Given the description of an element on the screen output the (x, y) to click on. 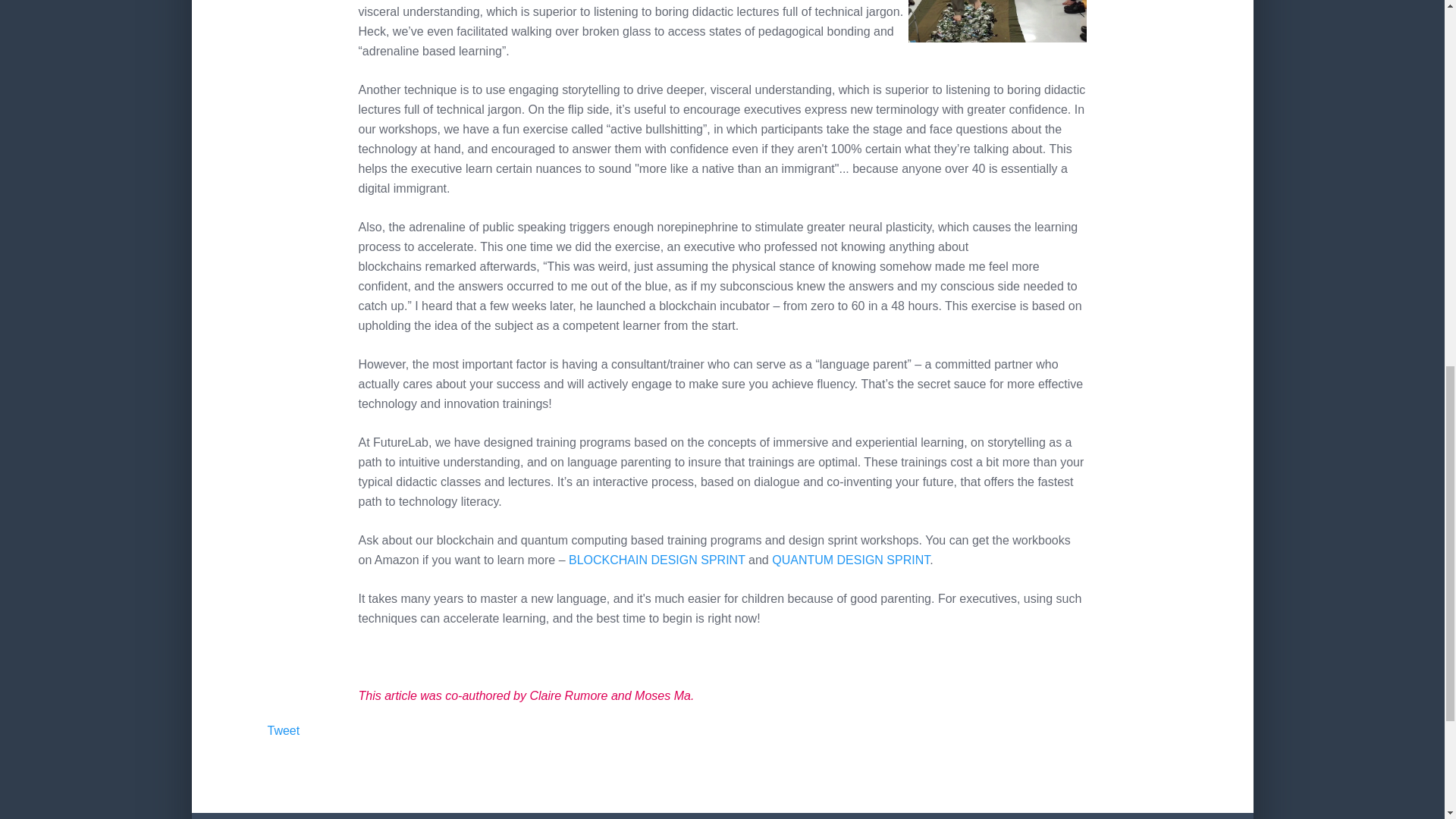
QUANTUM DESIGN SPRINT (850, 559)
BLOCKCHAIN DESIGN SPRINT (657, 559)
Tweet (282, 730)
